Given the description of an element on the screen output the (x, y) to click on. 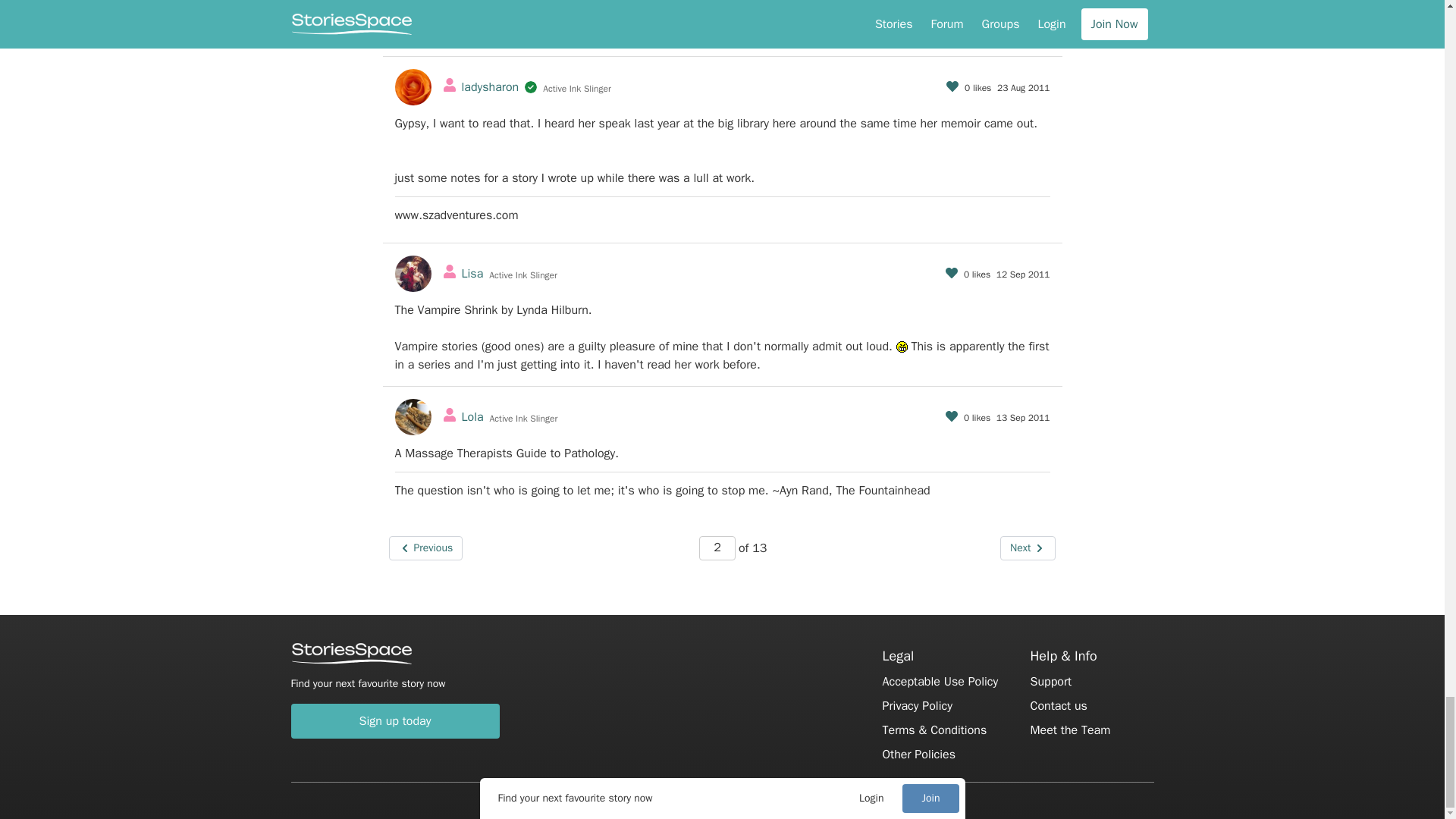
2 (716, 548)
evil4 (901, 346)
